Given the description of an element on the screen output the (x, y) to click on. 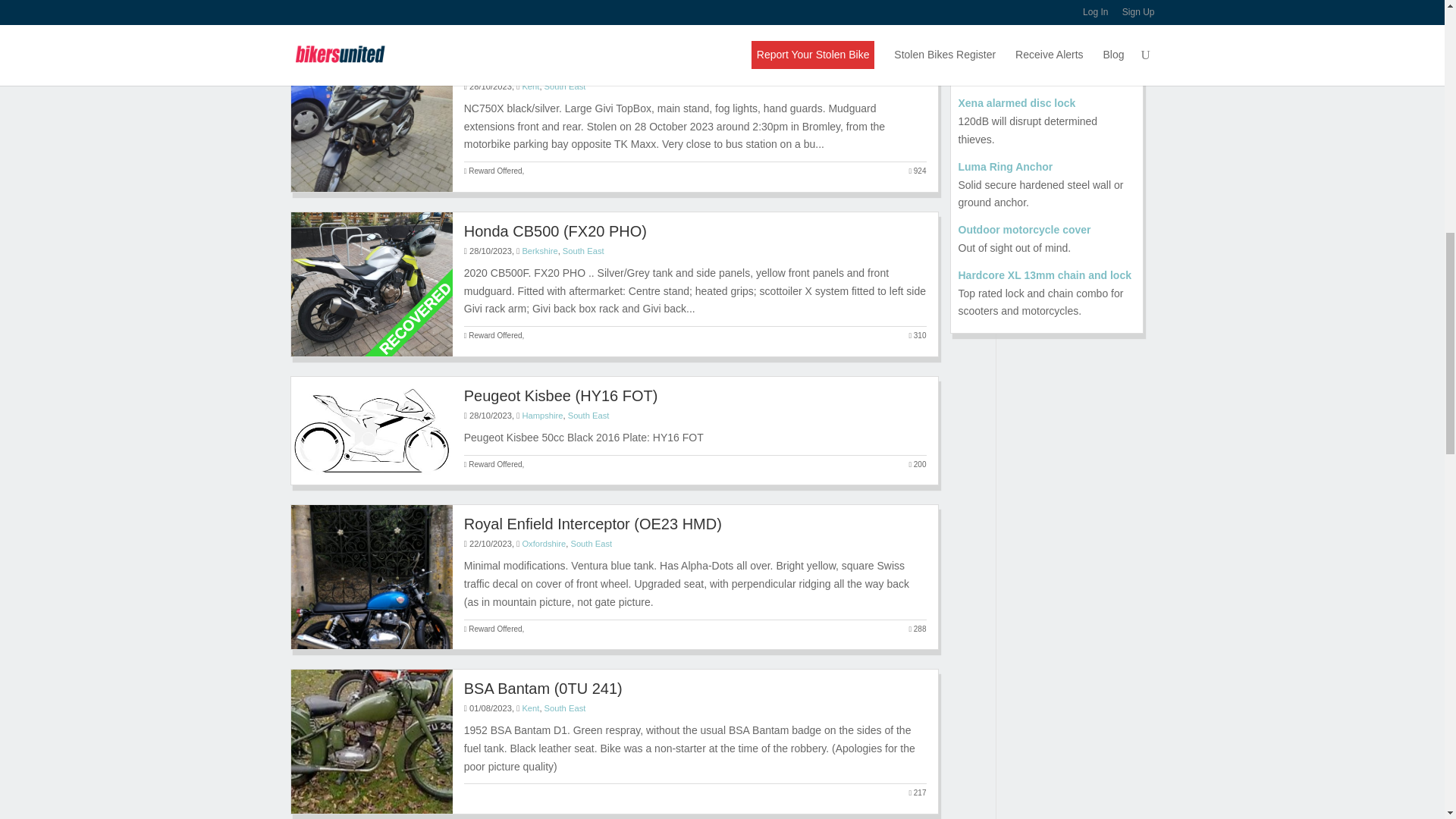
Oxford Monster Disc Lock (1046, 58)
Scooter alarmed disc lock (1046, 104)
1,172 (914, 7)
South East (565, 85)
Luma Ring Anchor (1046, 167)
924 (917, 171)
Kent (529, 85)
